Given the description of an element on the screen output the (x, y) to click on. 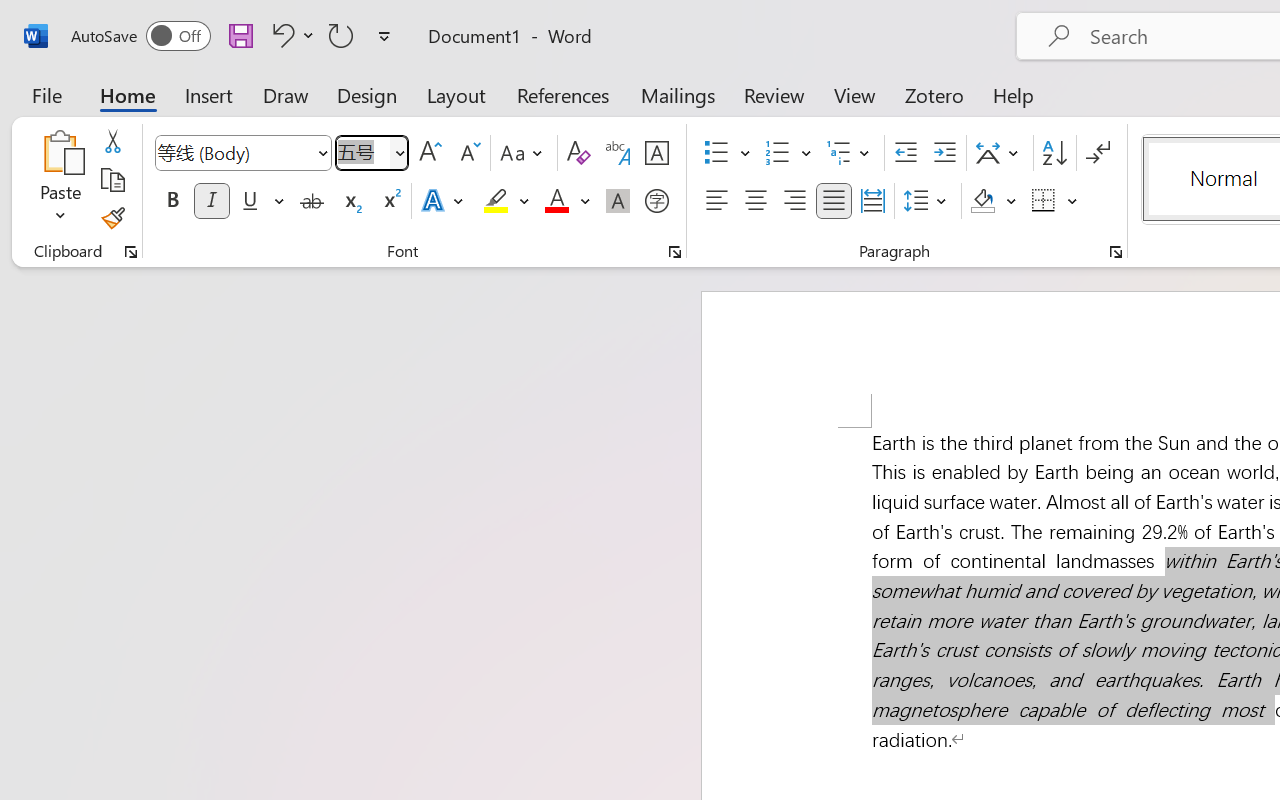
Clear Formatting (578, 153)
Sort... (1054, 153)
Help (1013, 94)
Cut (112, 141)
Office Clipboard... (131, 252)
Increase Indent (944, 153)
Character Shading (618, 201)
Strikethrough (312, 201)
Line and Paragraph Spacing (927, 201)
